Given the description of an element on the screen output the (x, y) to click on. 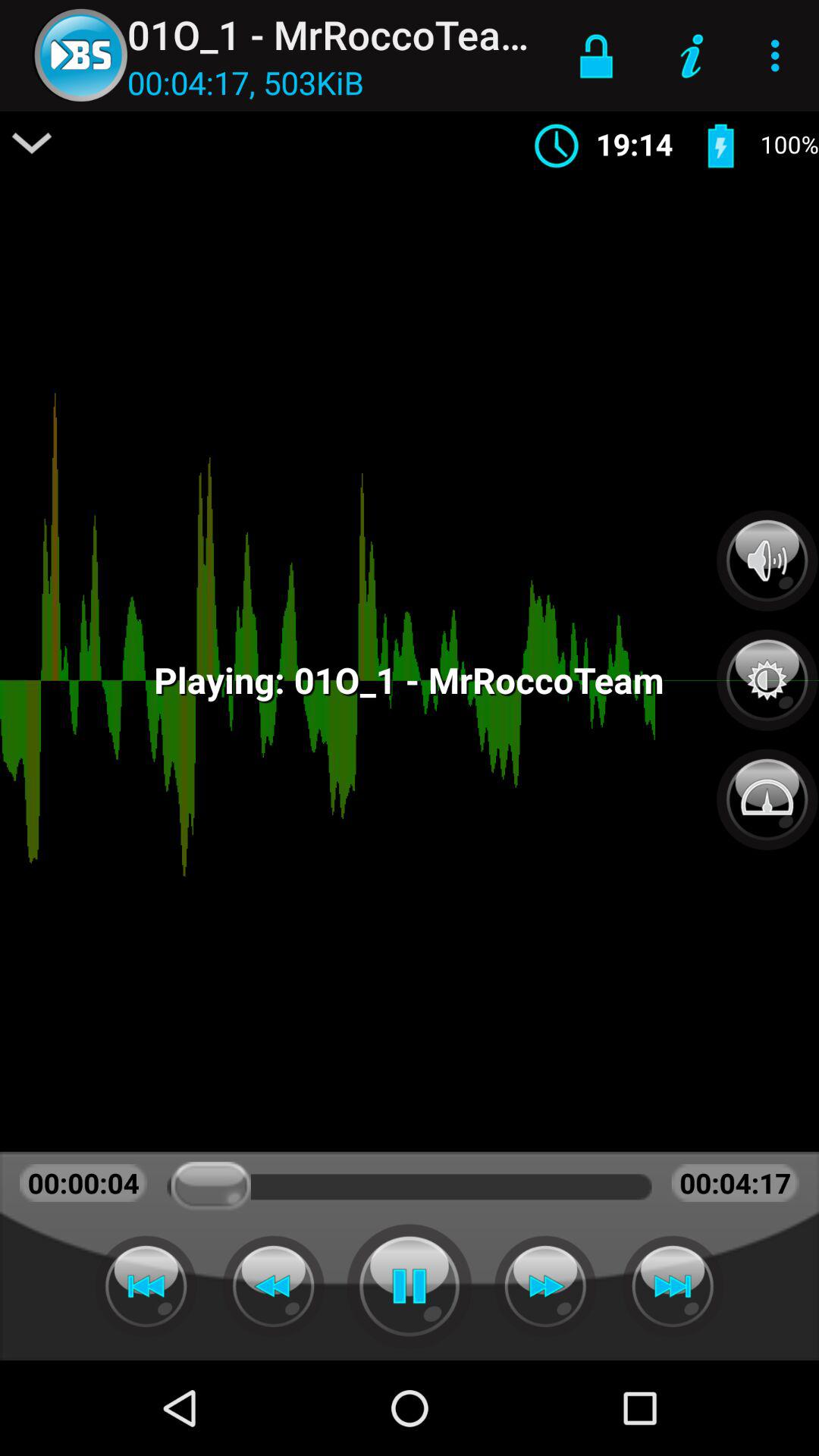
setting button (767, 671)
